Given the description of an element on the screen output the (x, y) to click on. 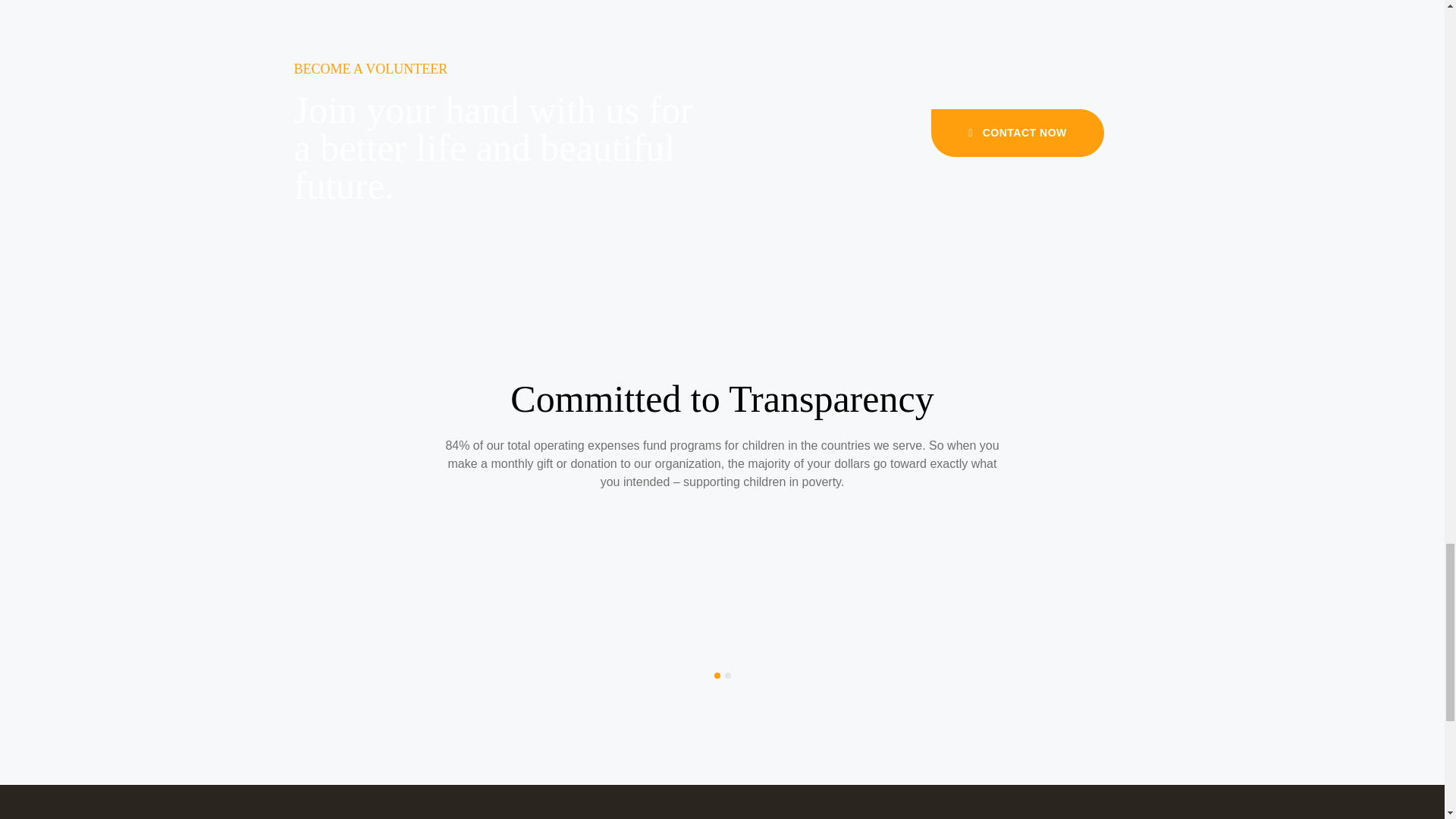
CONTACT NOW (1017, 132)
